Given the description of an element on the screen output the (x, y) to click on. 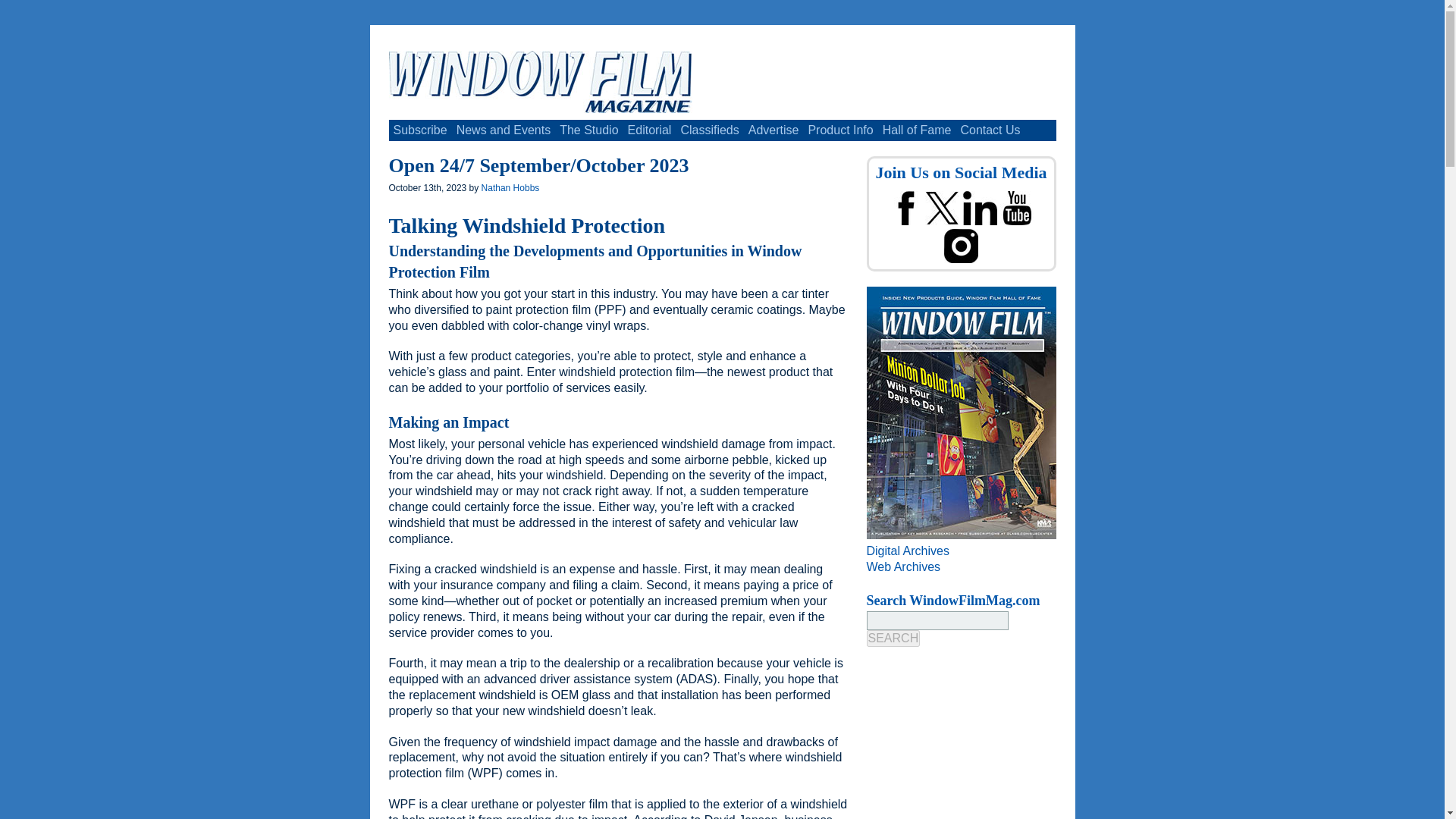
News and Events (503, 129)
Advertise (773, 129)
Nathan Hobbs (510, 187)
SEARCH (893, 638)
Contact Us (990, 129)
Hall of Fame (916, 129)
Subscribe (419, 129)
Editorial (650, 129)
Product Info (840, 129)
Classifieds (708, 129)
